Given the description of an element on the screen output the (x, y) to click on. 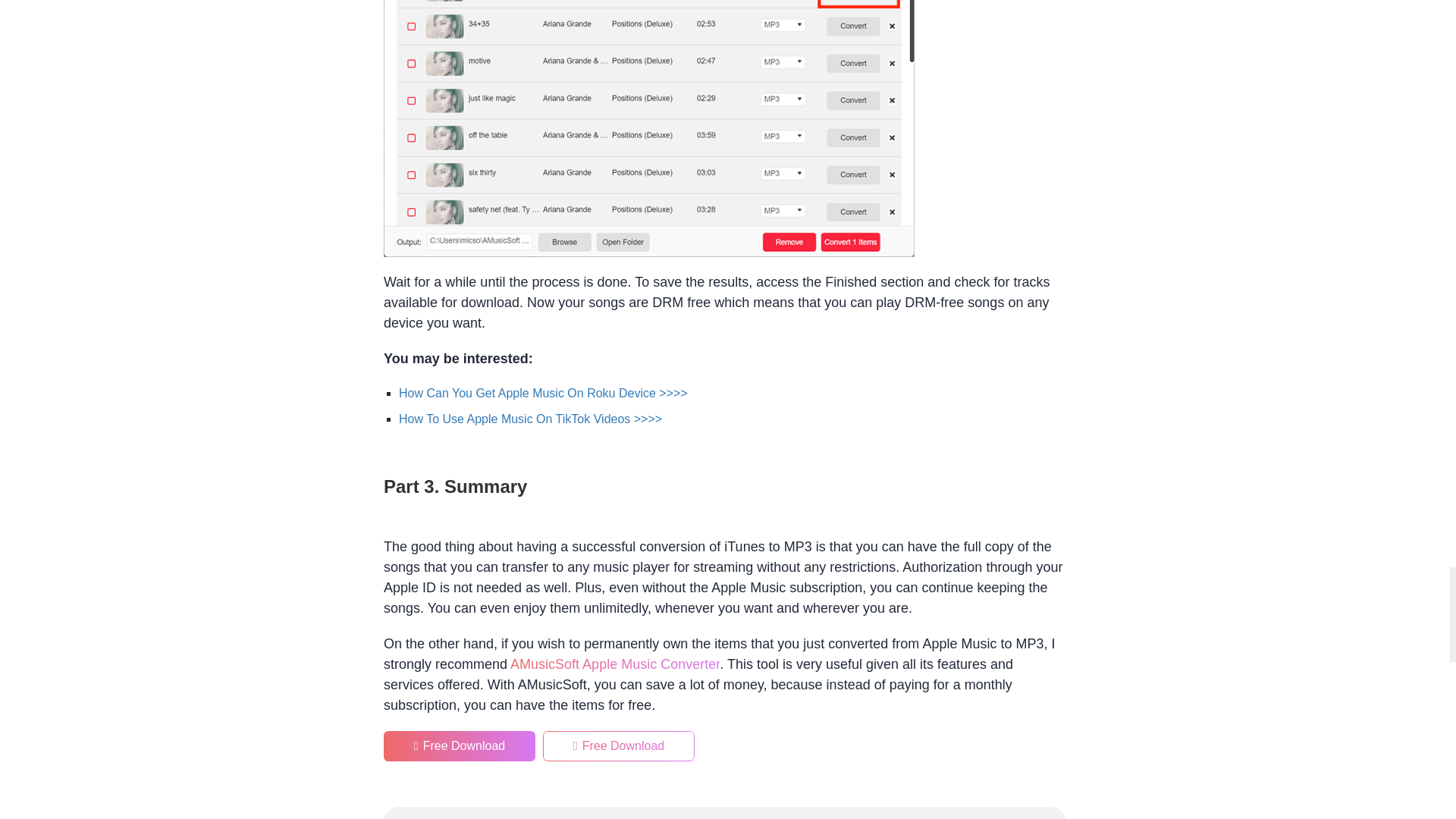
Free Download (618, 746)
Free Download (459, 746)
Free Download (618, 746)
Amusicsoft Apple Music Converter Download (615, 663)
Free Download (459, 746)
AMusicSoft Apple Music Converter (615, 663)
